Given the description of an element on the screen output the (x, y) to click on. 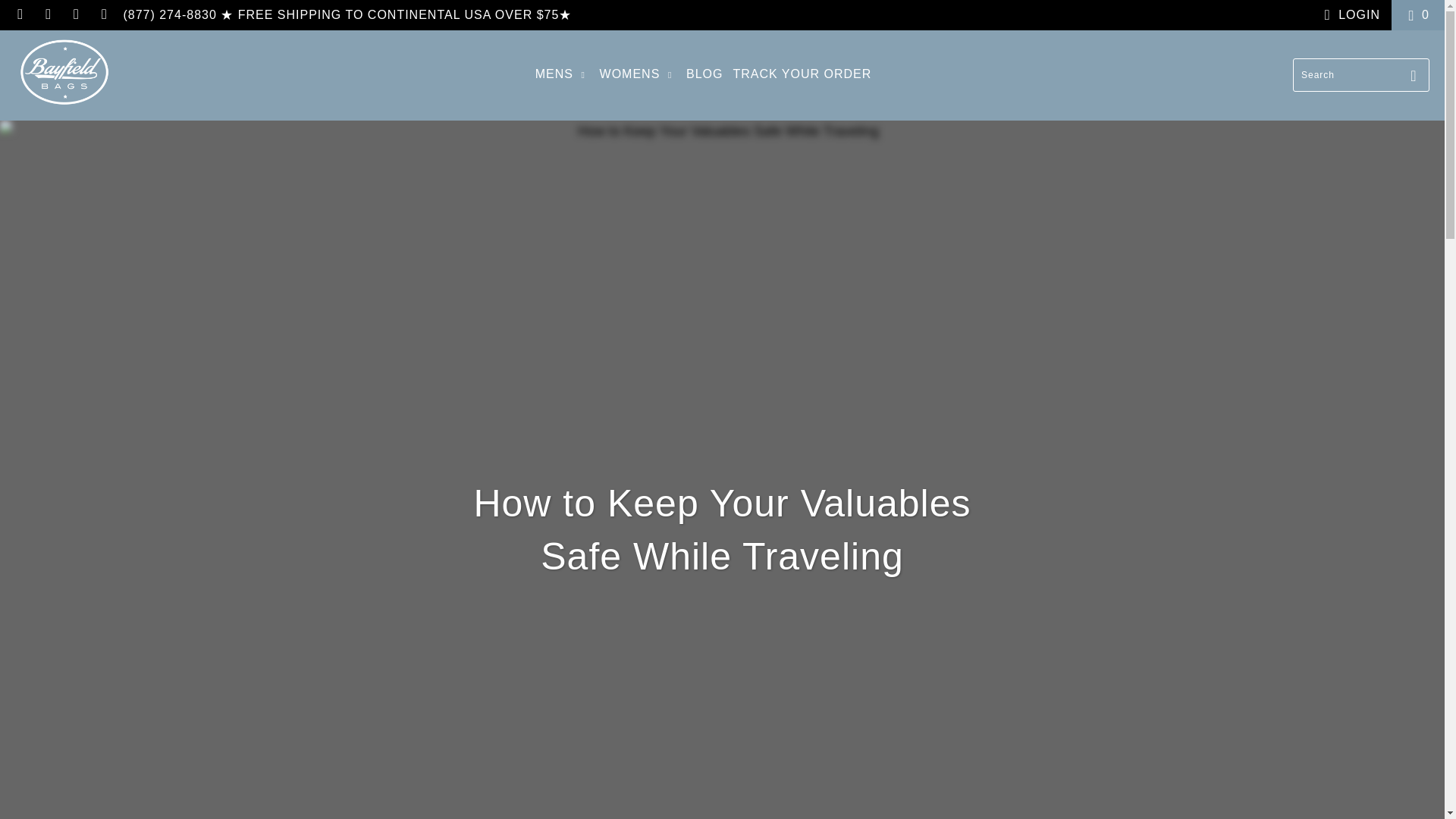
Email Bayfield Bags  (104, 14)
Bayfield Bags  on Instagram (75, 14)
Bayfield Bags  on Pinterest (47, 14)
LOGIN (1348, 15)
My Account  (1348, 15)
Bayfield Bags  (63, 75)
Bayfield Bags  on Facebook (19, 14)
